Given the description of an element on the screen output the (x, y) to click on. 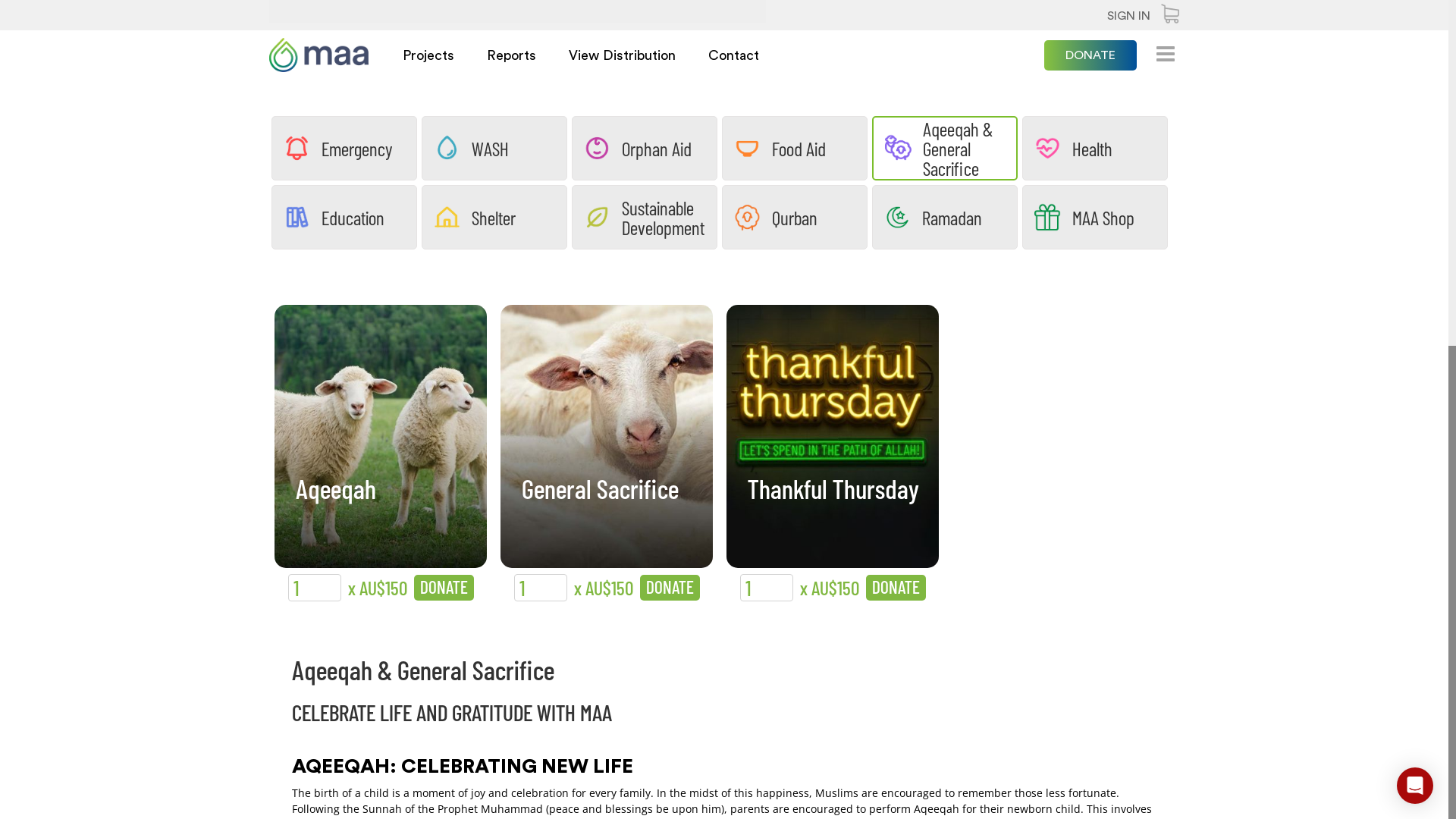
Reports Element type: text (511, 55)
View Cart Element type: hover (1170, 15)
Aqeeqah & General Sacrifice Element type: text (944, 148)
WASH Element type: text (494, 148)
MAA International Element type: hover (318, 54)
DONATE Element type: text (895, 587)
DONATE Element type: text (1090, 55)
SIGN IN Element type: text (1128, 15)
View Distribution Element type: text (621, 55)
DONATE Element type: text (669, 587)
Food Aid Element type: text (794, 148)
Shelter Element type: text (494, 217)
Orphan Aid Element type: text (644, 148)
Thankful Thursday Element type: text (833, 507)
MAA Shop Element type: text (1094, 217)
Click to Donate Element type: hover (832, 435)
View detail Element type: hover (380, 434)
Sustainable Development Element type: text (644, 217)
Aqeeqah Element type: text (335, 507)
Projects Element type: text (428, 55)
Ramadan Element type: text (944, 217)
Contact Element type: text (733, 55)
Qurban Element type: text (794, 217)
Education Element type: text (344, 217)
DONATE Element type: text (443, 587)
General Sacrifice Element type: text (599, 507)
Health Element type: text (1094, 148)
View detail Element type: hover (606, 434)
Emergency Element type: text (344, 148)
View Now. Element type: text (651, 19)
